Given the description of an element on the screen output the (x, y) to click on. 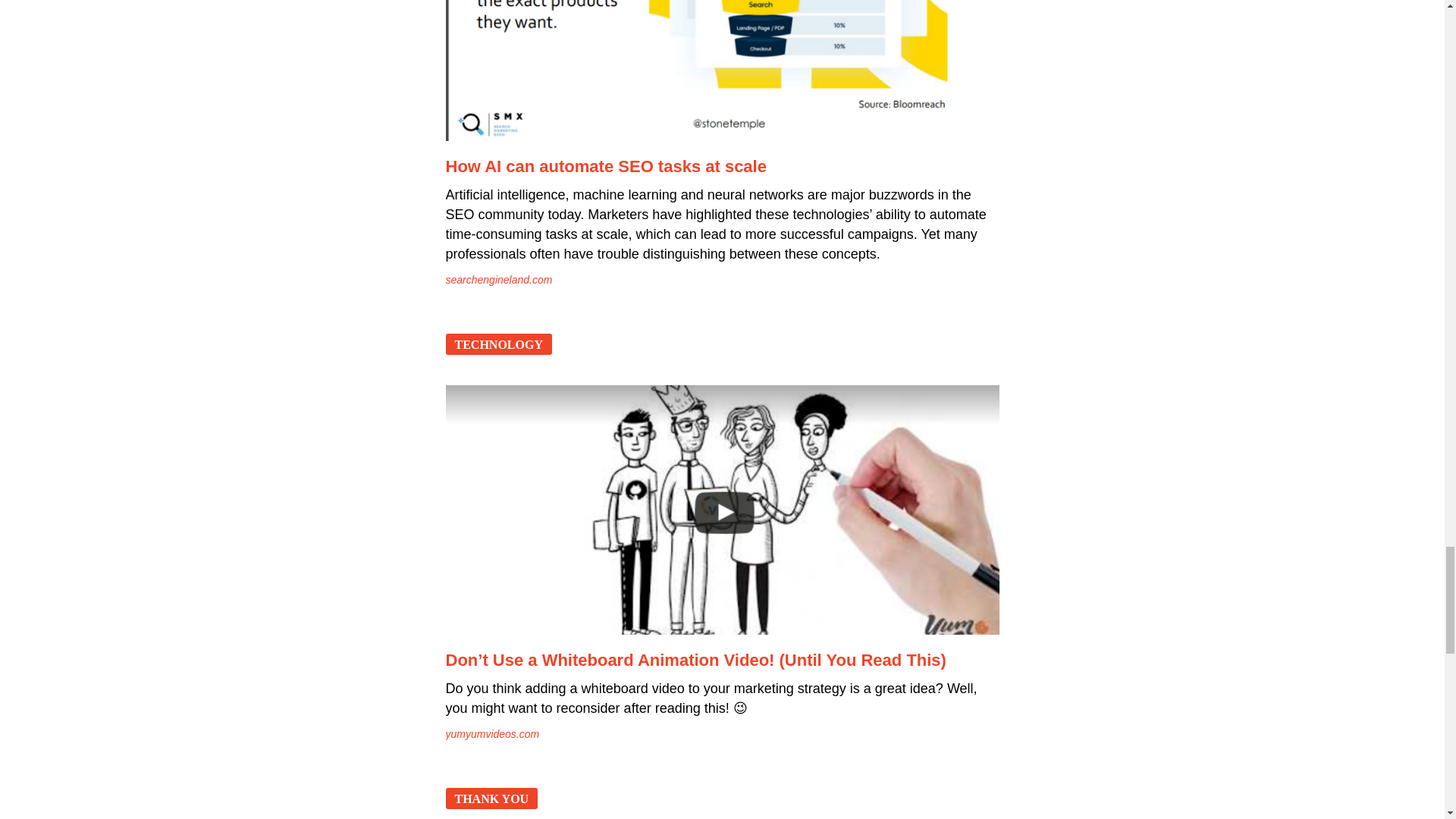
How AI can automate SEO tasks at scale (721, 70)
searchengineland.com (499, 279)
yumyumvideos.com (492, 734)
How AI can automate SEO tasks at scale (606, 166)
